Given the description of an element on the screen output the (x, y) to click on. 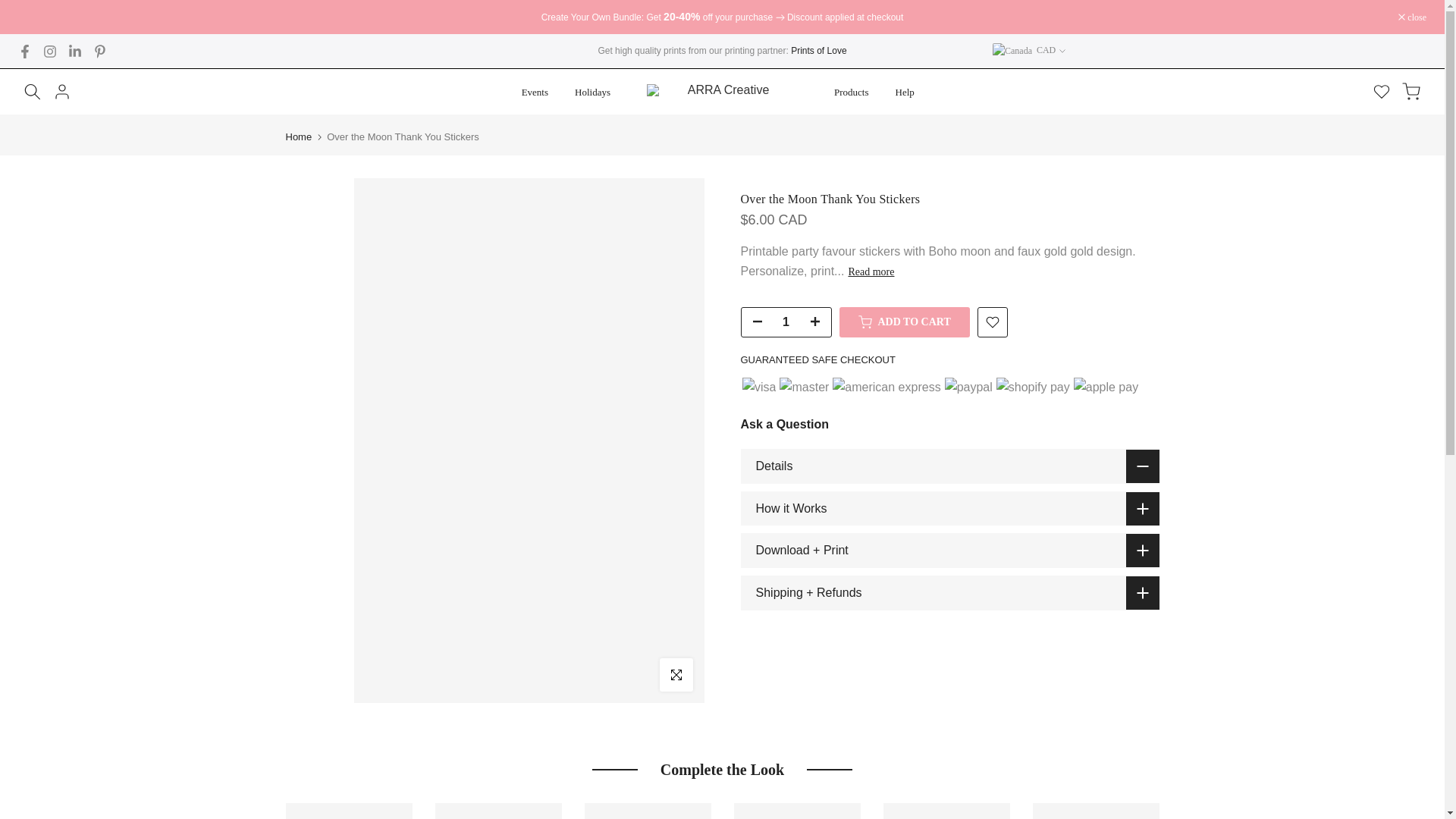
Prints of Love (817, 50)
Skip to content (10, 7)
CAD (1028, 50)
close (1411, 16)
1 (786, 321)
